Given the description of an element on the screen output the (x, y) to click on. 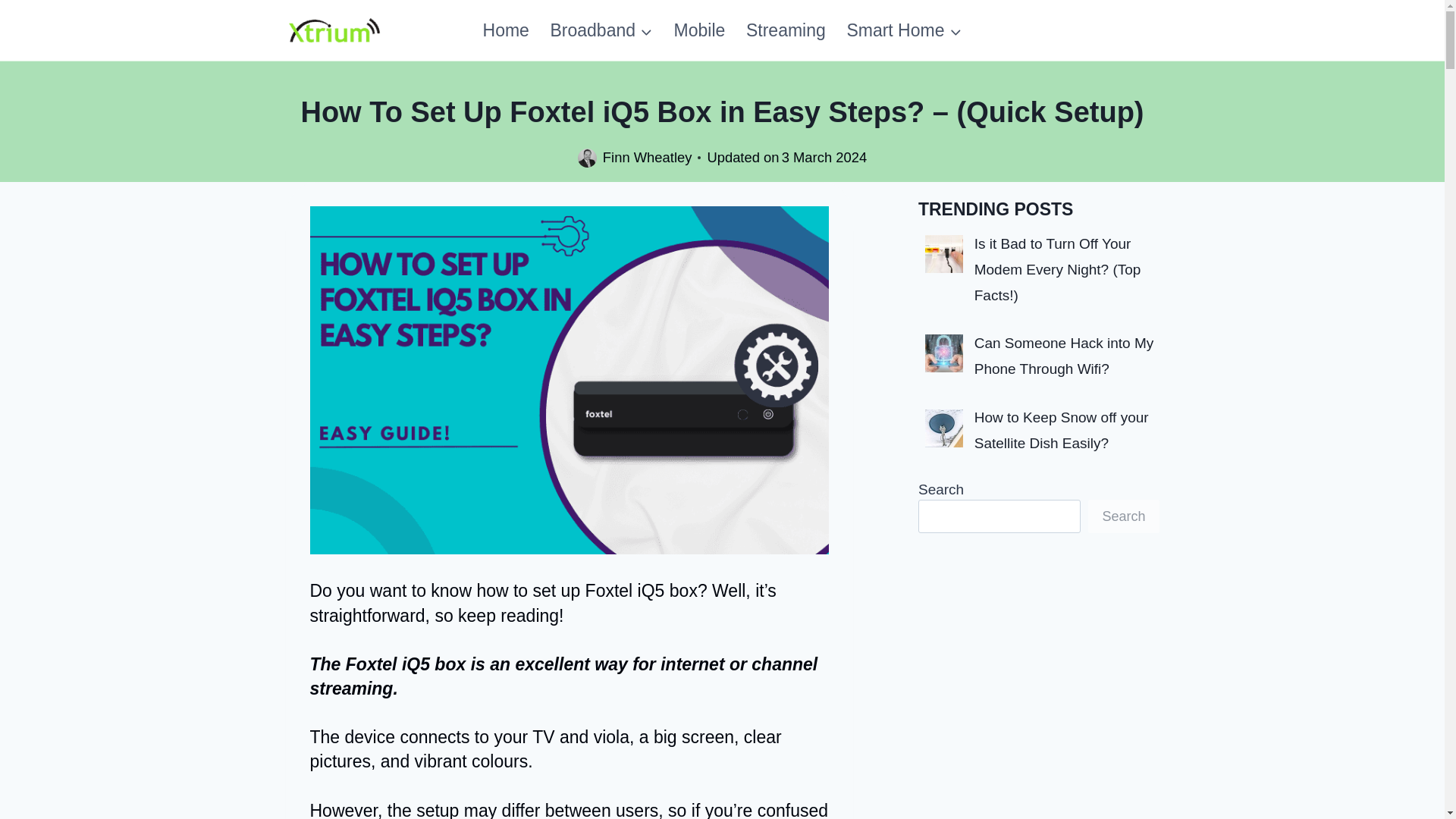
How to Keep Snow off your Satellite Dish Easily? (1061, 430)
Can Someone Hack into My Phone Through Wifi? (1064, 355)
Home (505, 30)
Can Someone Hack into My Phone Through Wifi? 13 (943, 353)
Streaming (785, 30)
Search (1122, 516)
Smart Home (903, 30)
Finn Wheatley (647, 157)
Mobile (699, 30)
Broadband (601, 30)
